Given the description of an element on the screen output the (x, y) to click on. 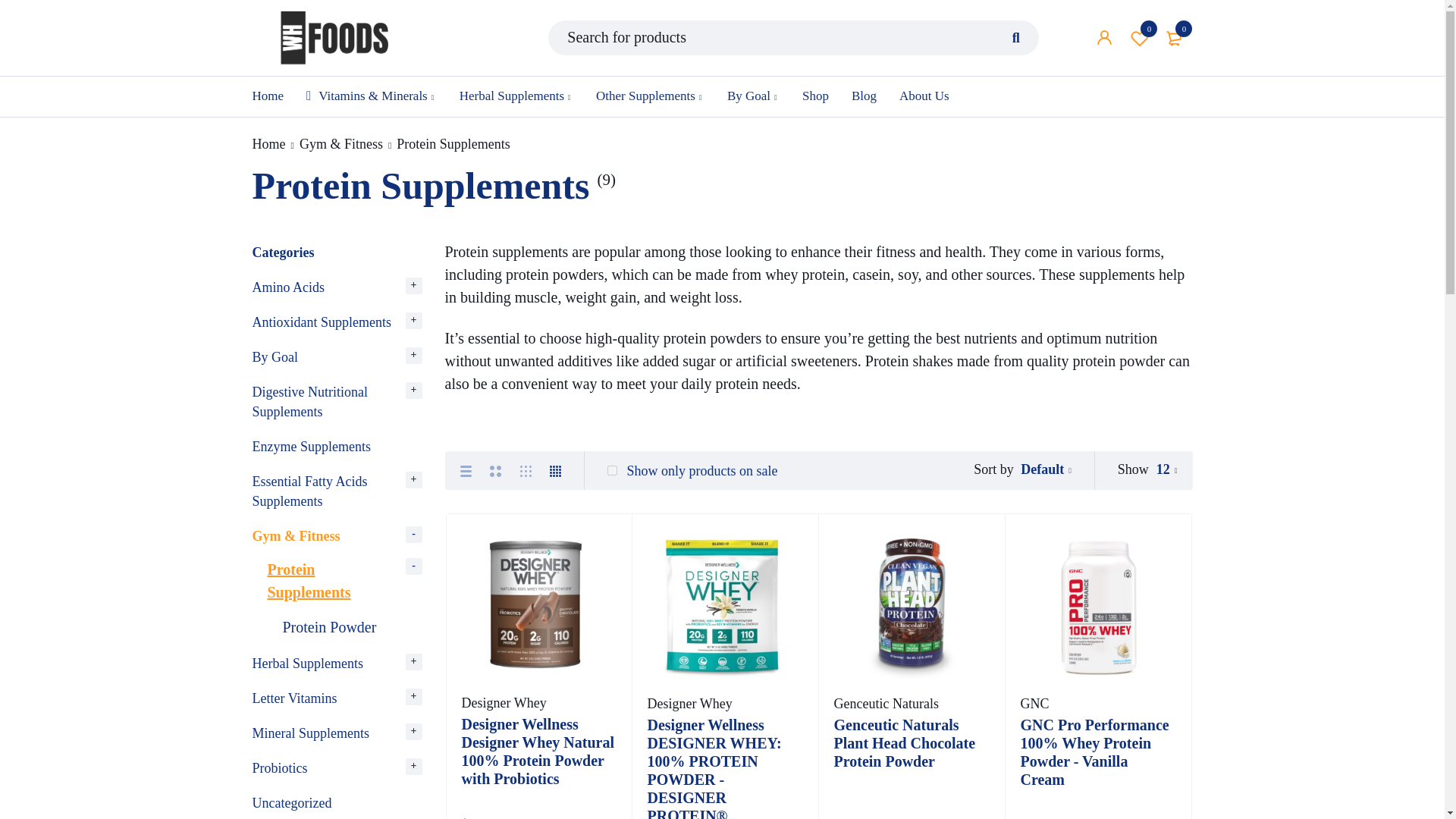
Search (1015, 37)
View your shopping cart (1174, 37)
WHFoods (332, 37)
Wishlist (1139, 37)
yes (612, 470)
